Given the description of an element on the screen output the (x, y) to click on. 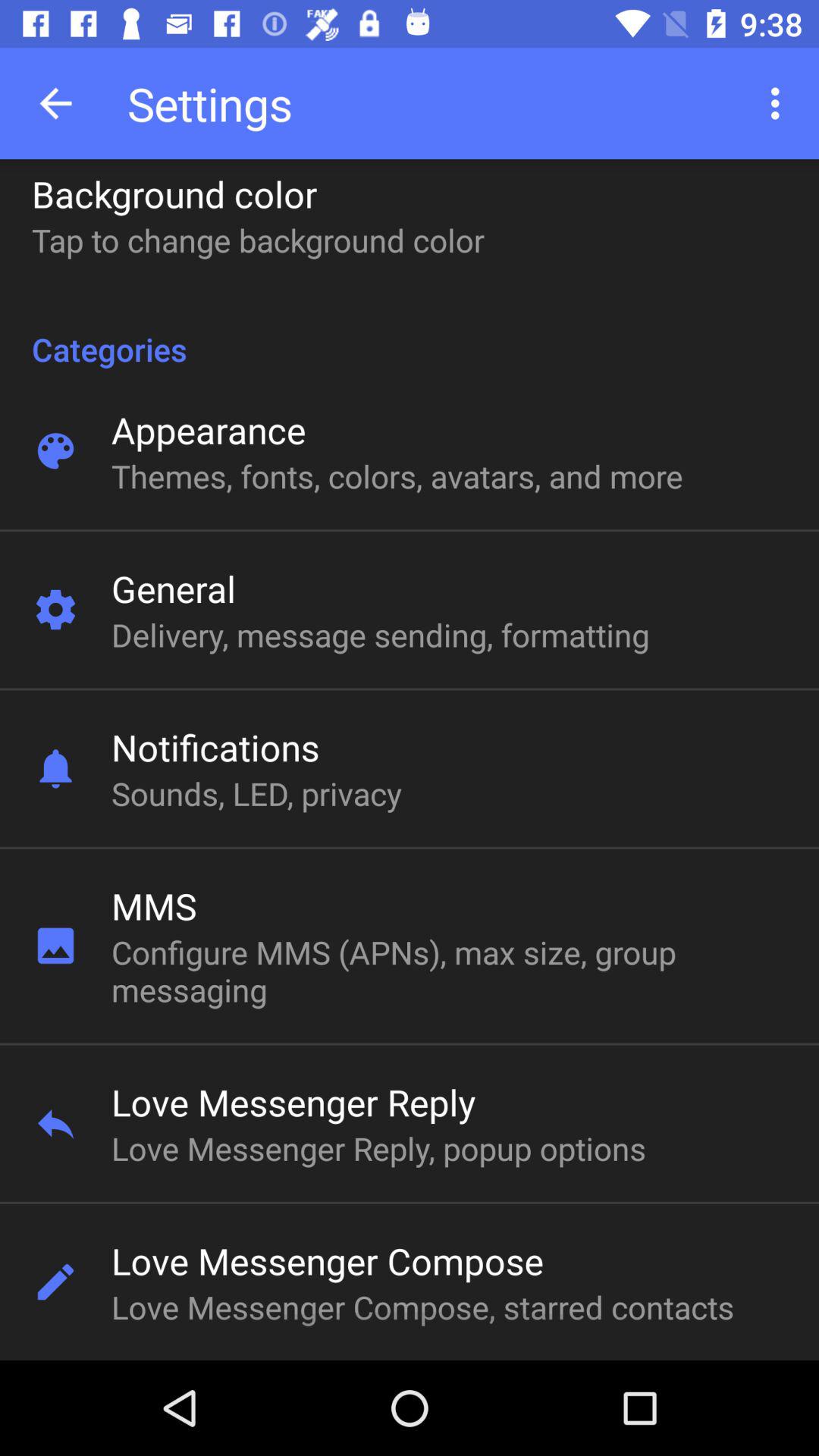
select the item below the mms (397, 970)
